Given the description of an element on the screen output the (x, y) to click on. 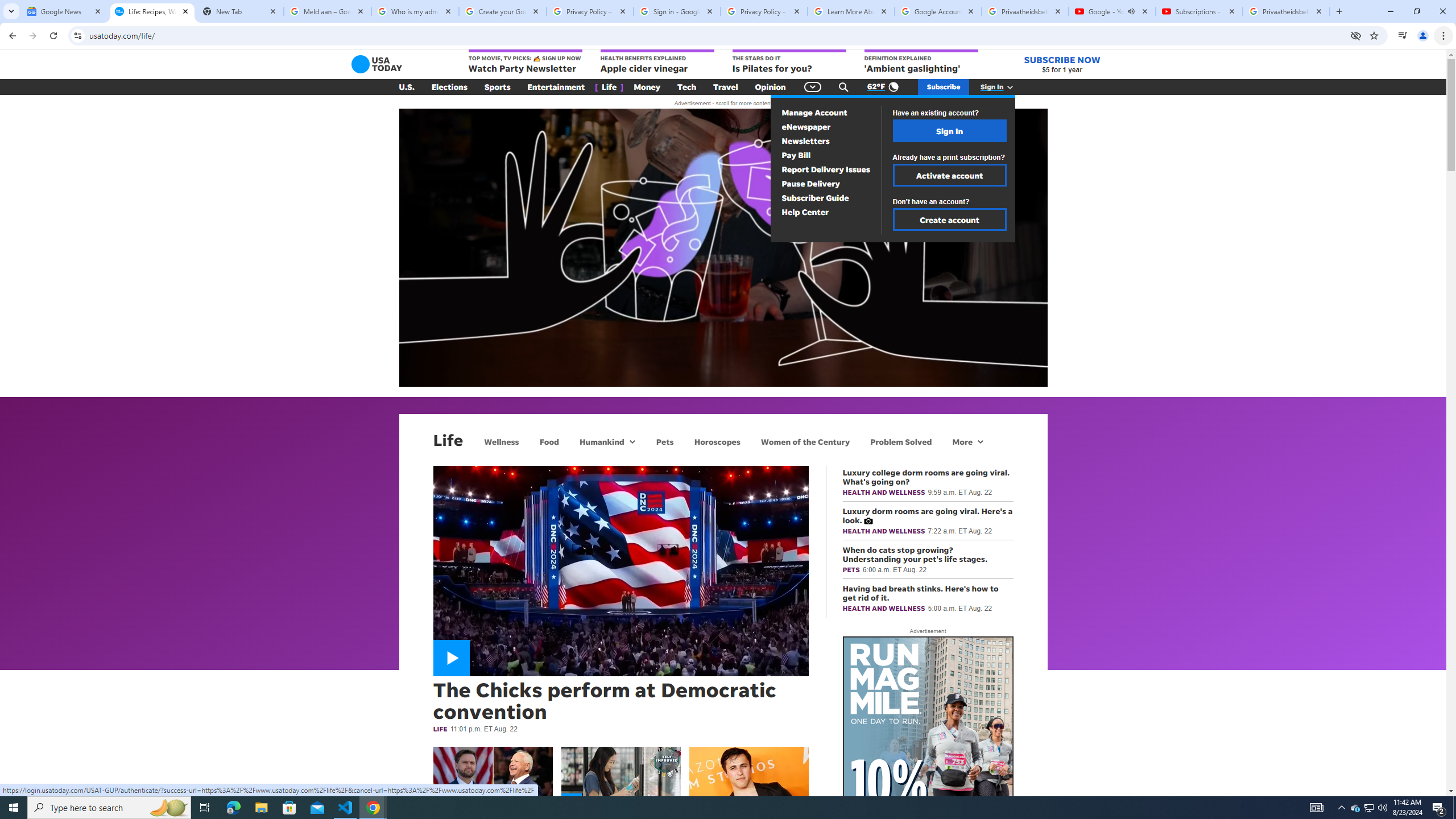
eNewspaper (805, 126)
THE STARS DO IT Is Pilates for you? (788, 62)
Report Delivery Issues (825, 169)
Global Navigation (812, 87)
Humankind (600, 441)
[ Life ] (609, 87)
Entertainment (556, 87)
USA TODAY (376, 64)
